Given the description of an element on the screen output the (x, y) to click on. 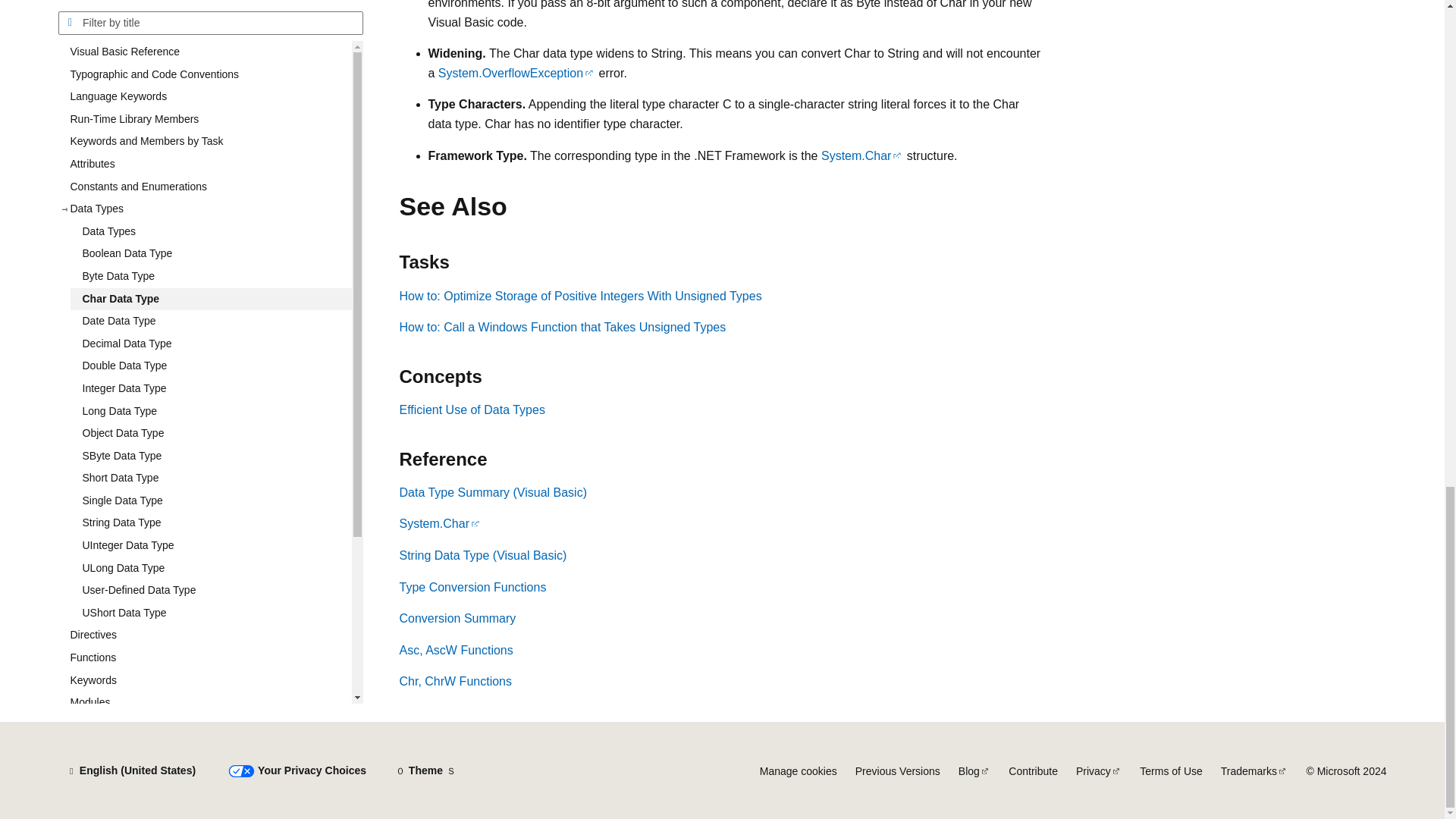
Theme (425, 770)
